Given the description of an element on the screen output the (x, y) to click on. 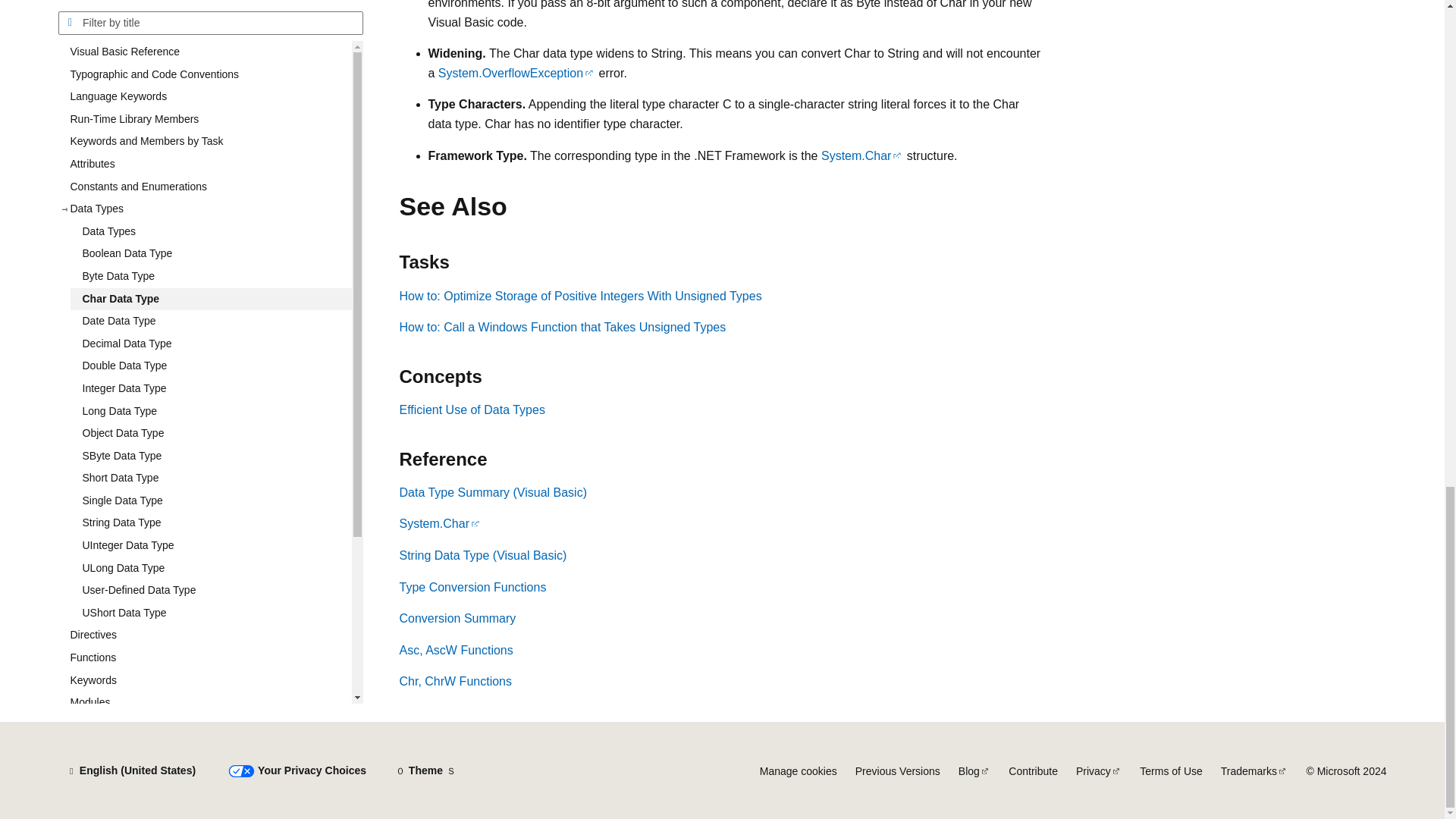
Theme (425, 770)
